Given the description of an element on the screen output the (x, y) to click on. 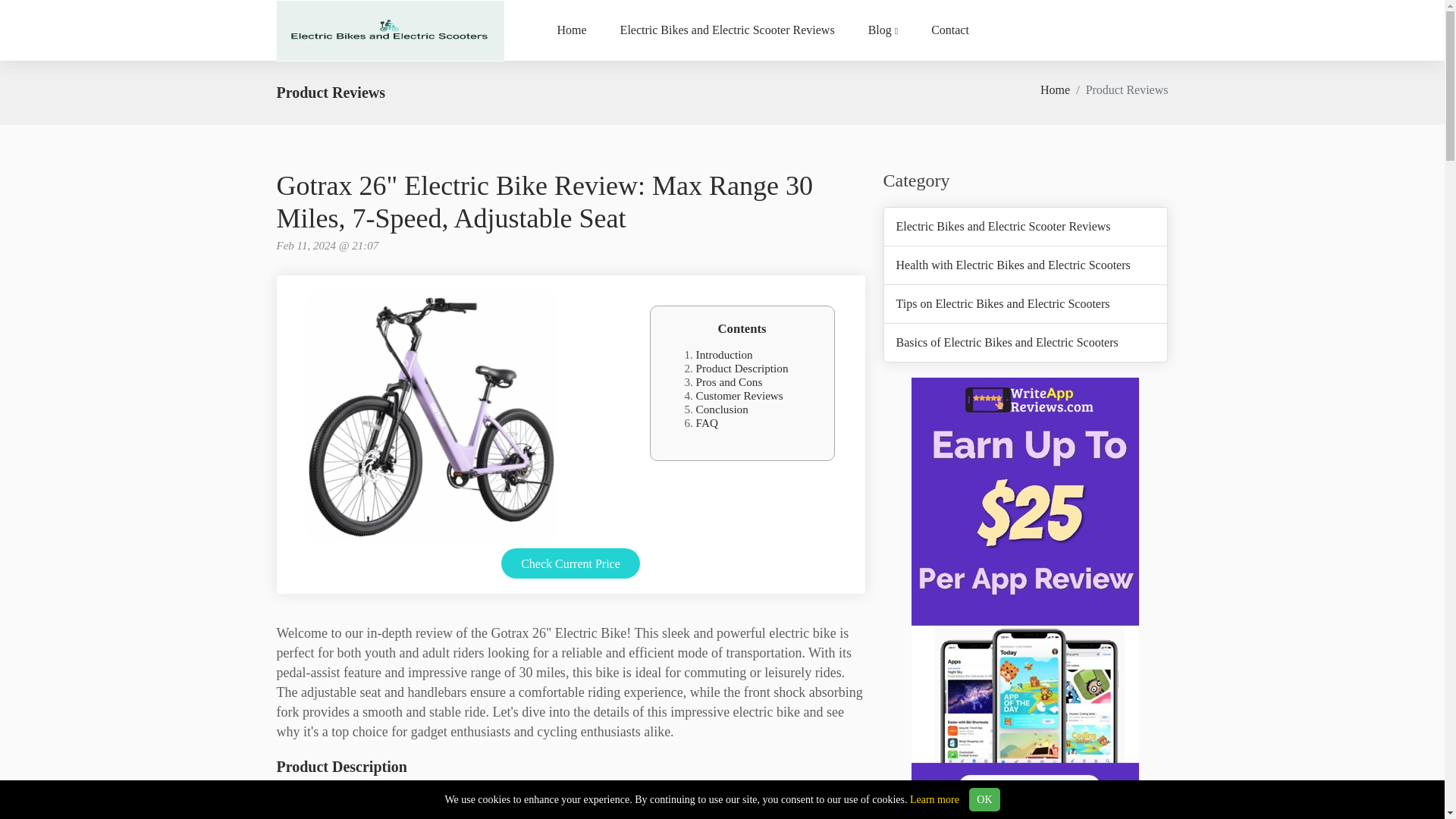
Reviews (727, 29)
Check Current Price (570, 562)
Home (1055, 89)
Blog (883, 29)
Conclusion (721, 408)
Electric Bikes and Electric Scooter Reviews (1003, 226)
Tips on Electric Bikes and Electric Scooters (1002, 304)
Health with Electric Bikes and Electric Scooters (1013, 264)
Basics of Electric Bikes and Electric Scooters (1007, 342)
Pros and Cons (728, 381)
Home (571, 29)
Contact (949, 29)
Home (571, 29)
Blog (883, 29)
FAQ (706, 422)
